Given the description of an element on the screen output the (x, y) to click on. 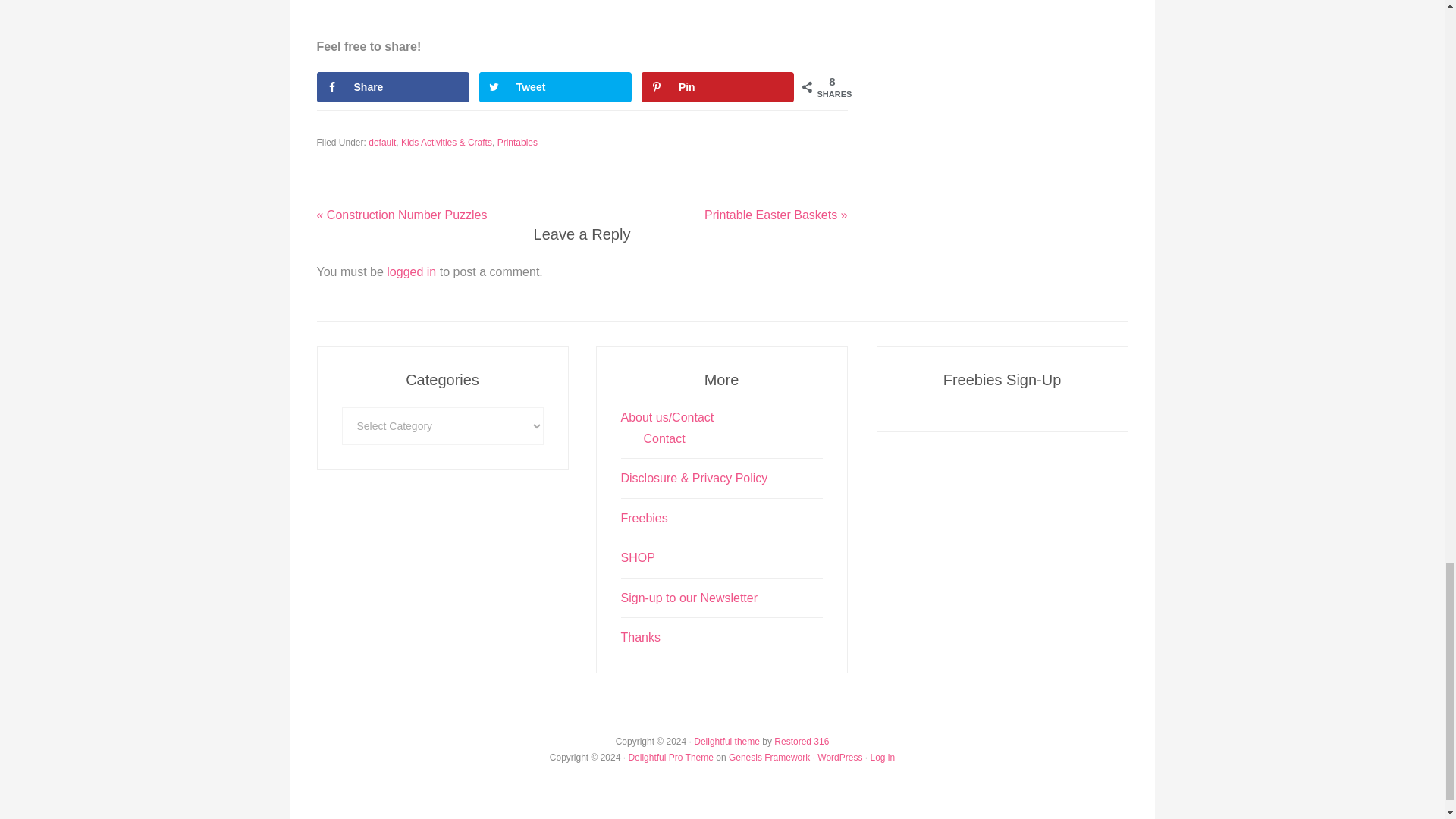
Share on Twitter (555, 87)
Share on Facebook (393, 87)
Save to Pinterest (718, 87)
